Given the description of an element on the screen output the (x, y) to click on. 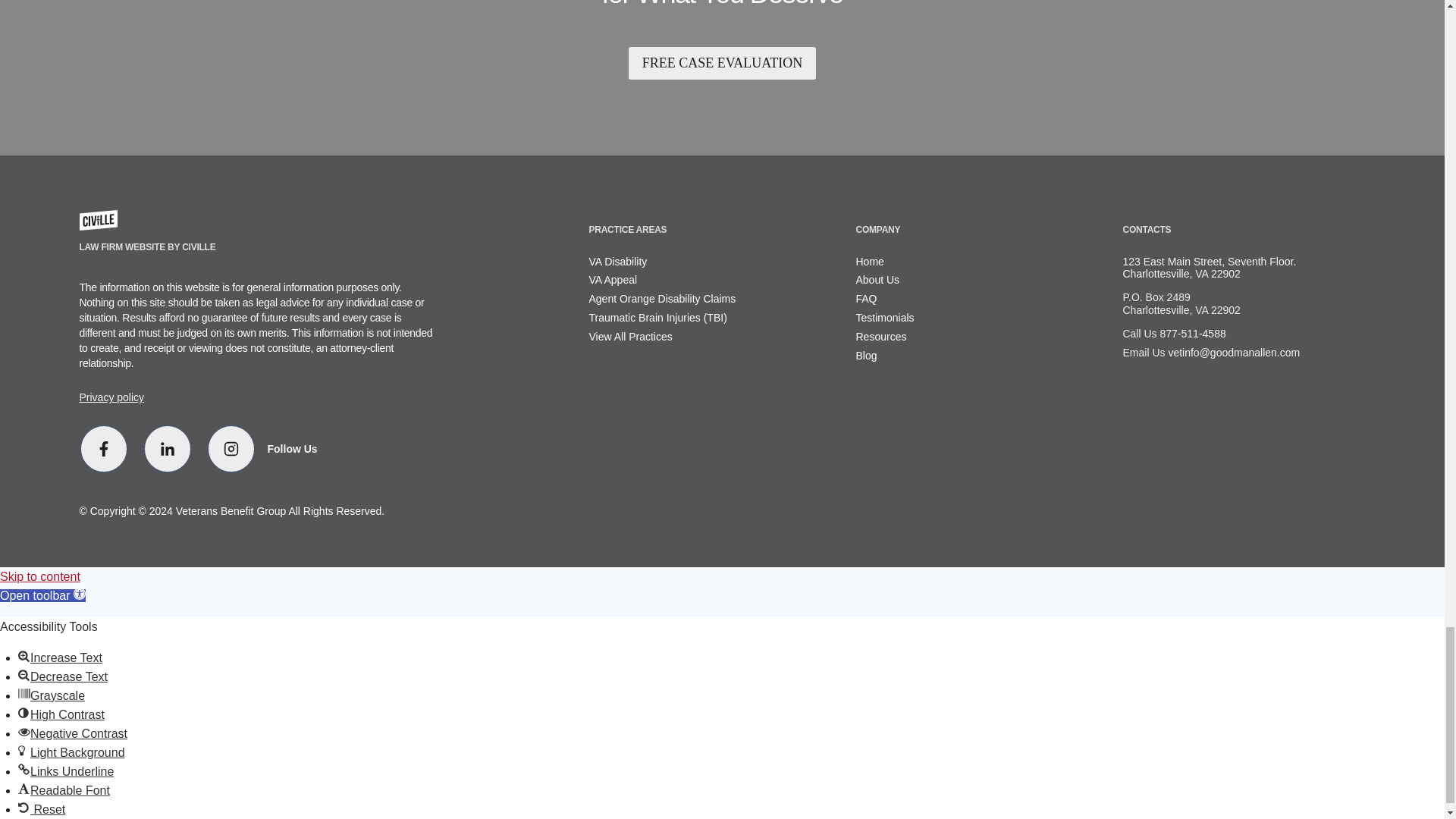
Accessibility Tools (42, 594)
Accessibility Tools (79, 593)
Grayscale (23, 693)
Decrease Text (23, 674)
Increase Text (23, 655)
